Given the description of an element on the screen output the (x, y) to click on. 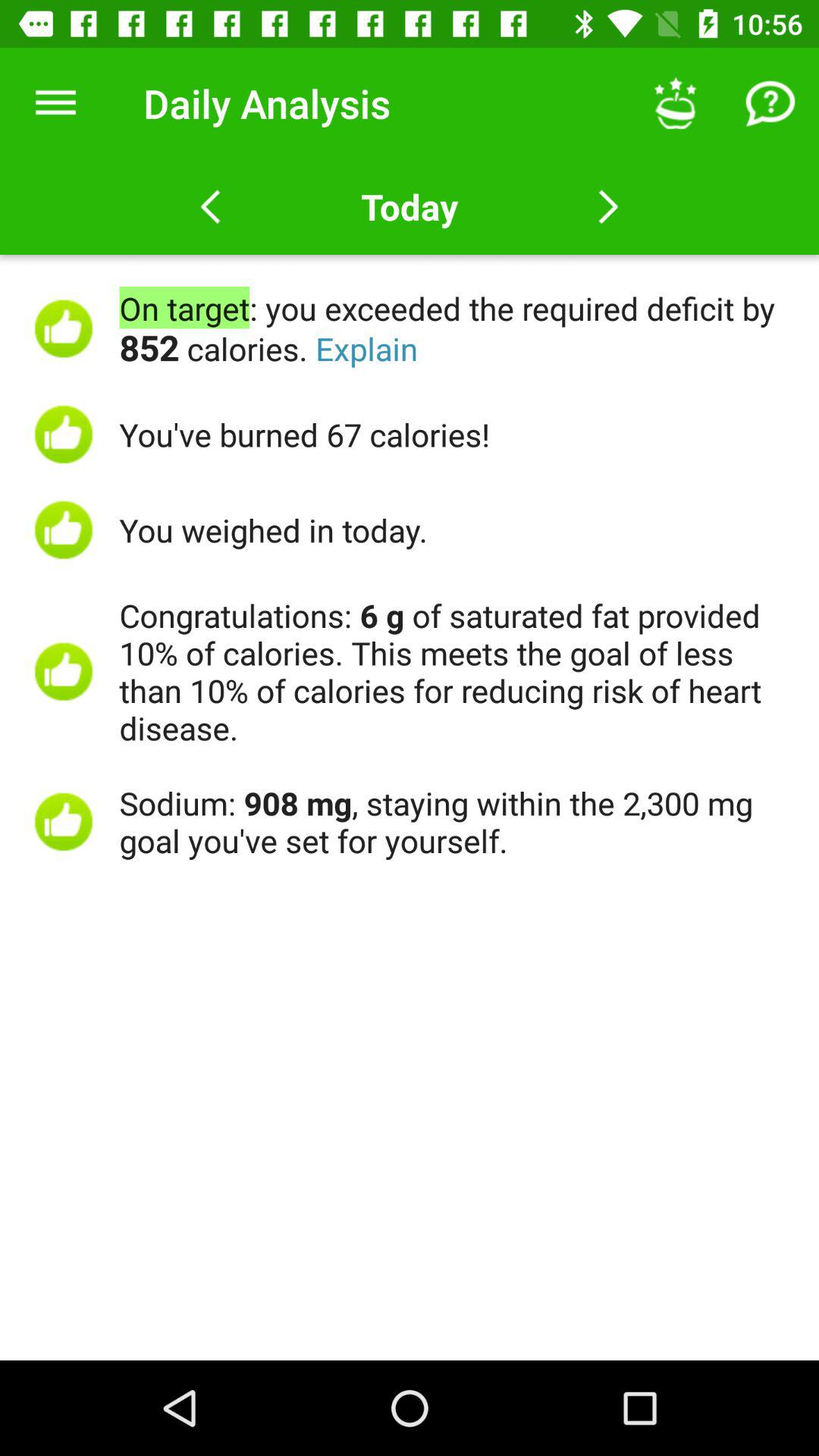
turn on icon next to the daily analysis item (55, 103)
